Given the description of an element on the screen output the (x, y) to click on. 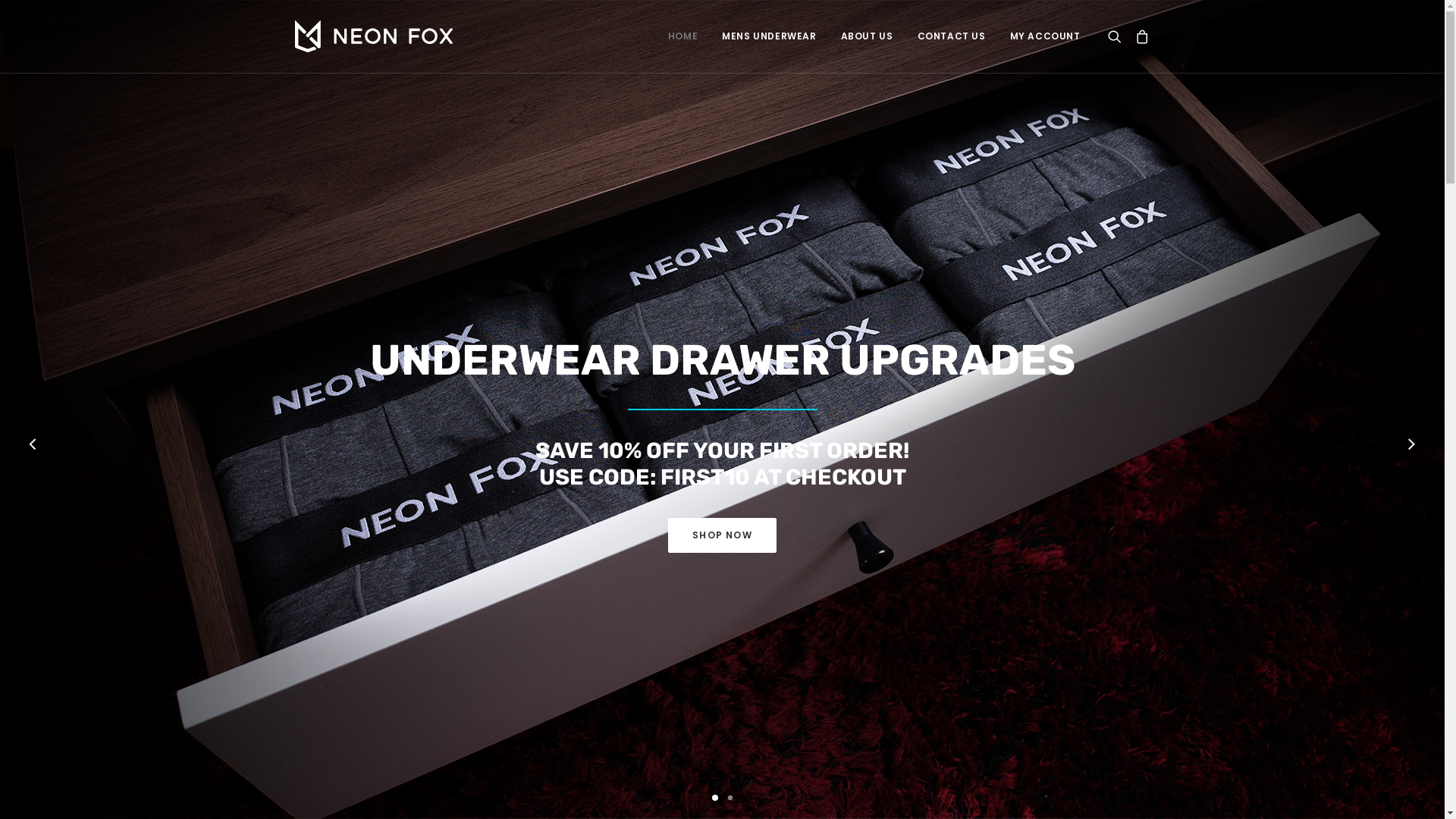
ABOUT US Element type: text (866, 36)
CONTACT US Element type: text (951, 36)
MENS UNDERWEAR Element type: text (768, 36)
SHOP NOW Element type: text (722, 534)
MY ACCOUNT Element type: text (1039, 36)
cart Element type: hover (1139, 36)
HOME Element type: text (682, 36)
